Given the description of an element on the screen output the (x, y) to click on. 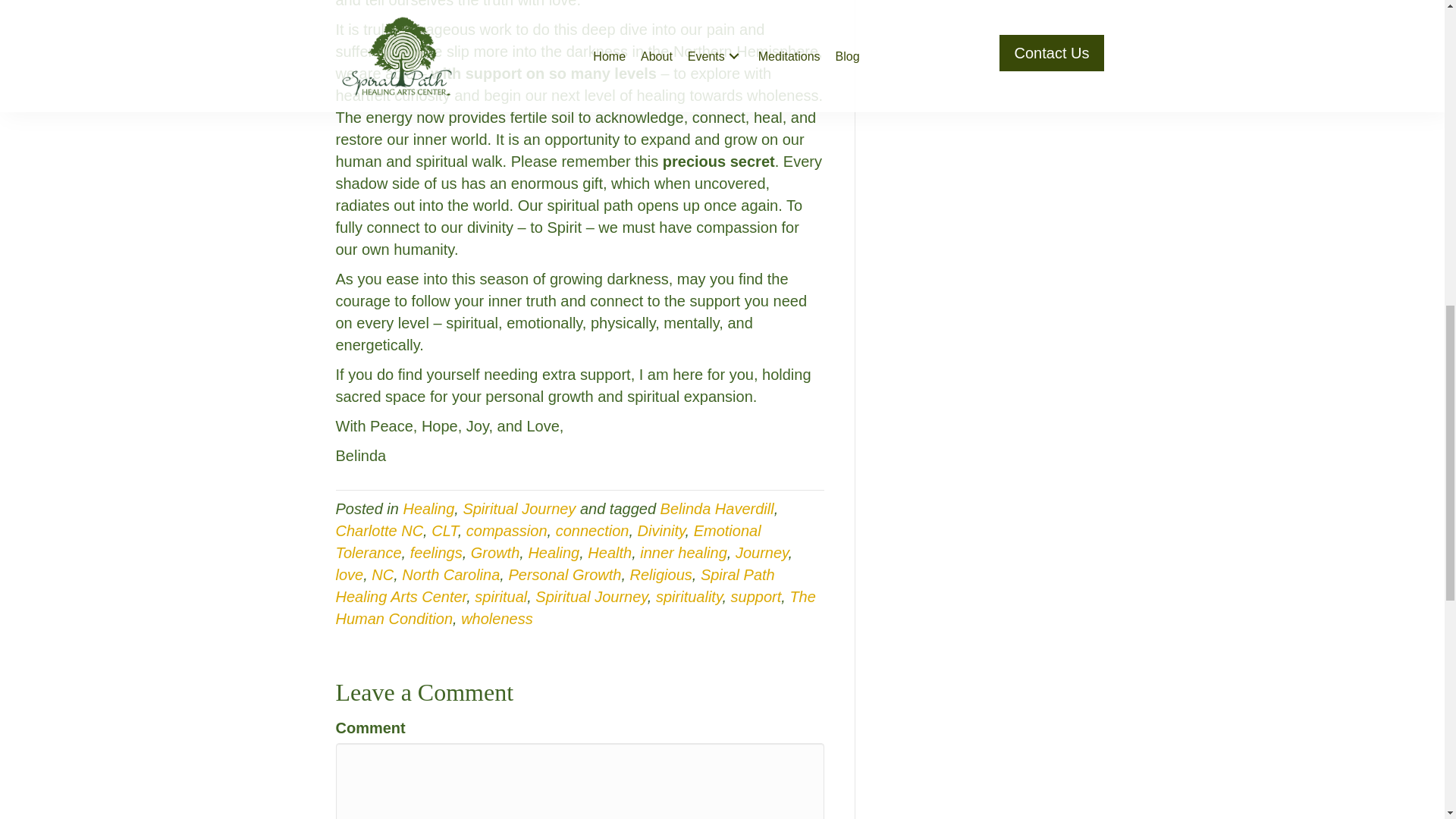
Spiritual Journey (590, 596)
North Carolina (450, 574)
Health (609, 552)
Journey (762, 552)
spiritual (500, 596)
Growth (494, 552)
inner healing (683, 552)
The Human Condition (574, 607)
Spiral Path Healing Arts Center (554, 585)
wholeness (496, 618)
